Given the description of an element on the screen output the (x, y) to click on. 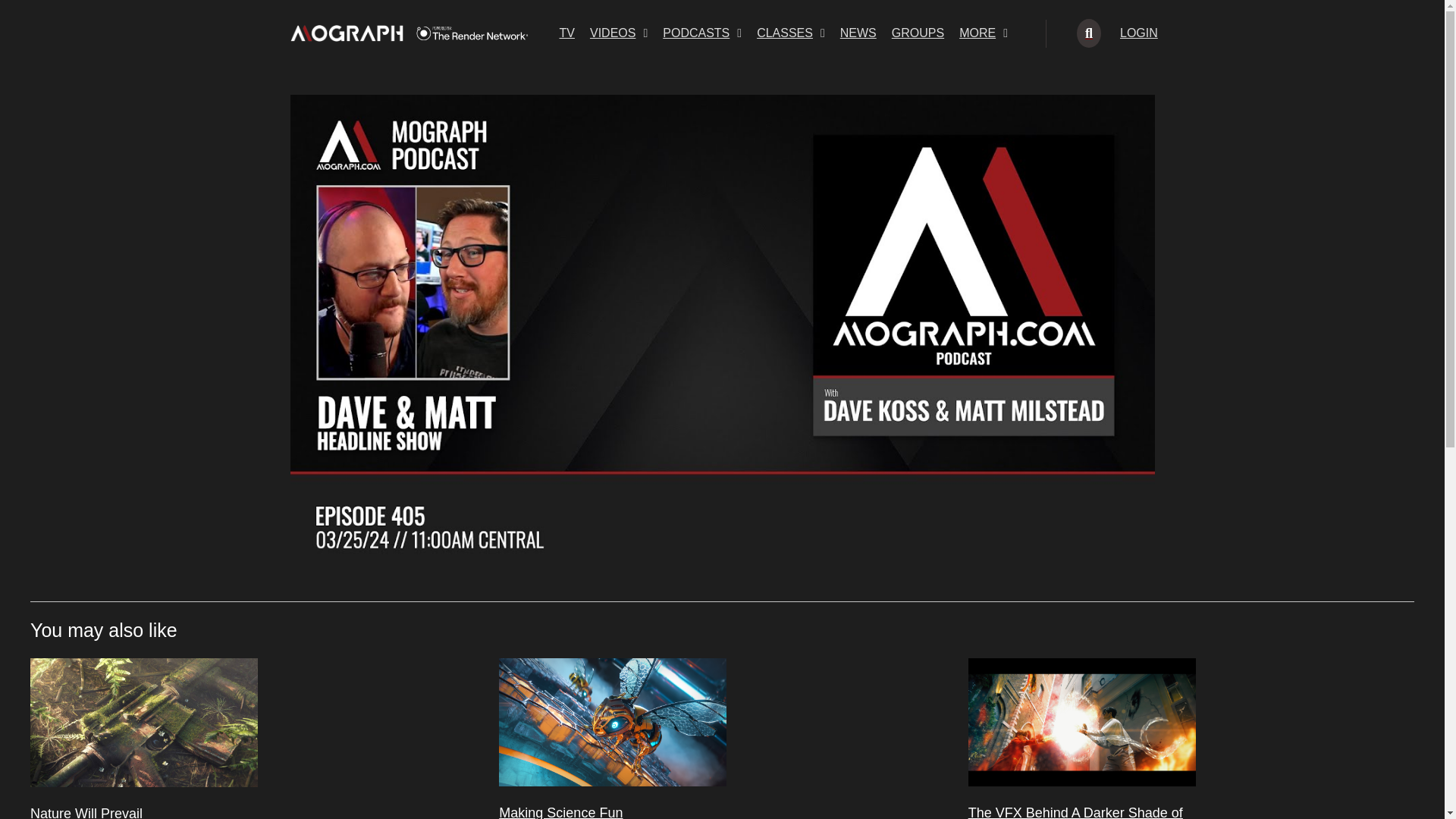
GROUPS (917, 33)
MORE (983, 33)
CLASSES (790, 33)
VIDEOS (618, 33)
LOGIN (1139, 33)
Nature Will Prevail (86, 812)
PODCASTS (702, 33)
NEWS (857, 33)
